Given the description of an element on the screen output the (x, y) to click on. 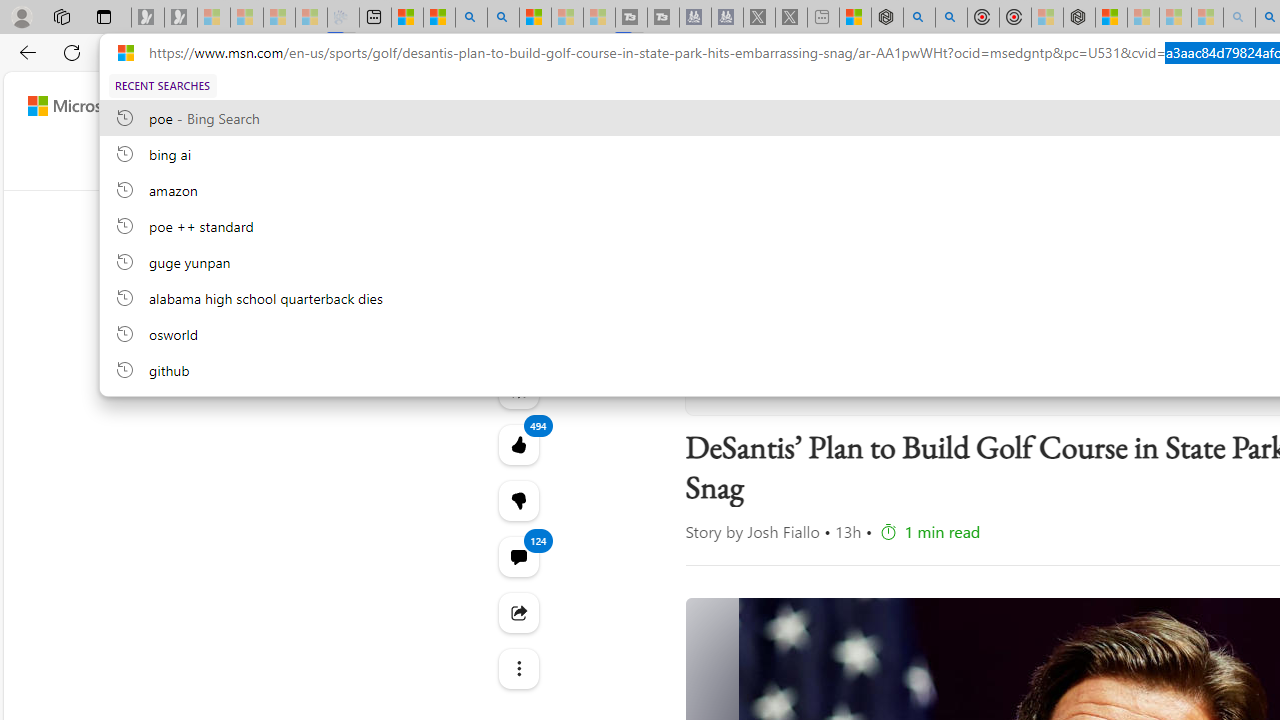
Nordace - Summer Adventures 2024 (886, 17)
Wildlife - MSN (855, 17)
Follow (906, 378)
Sports (734, 162)
MLB (977, 162)
Nordace - Nordace Siena Is Not An Ordinary Backpack (1078, 17)
poe ++ standard - Search (950, 17)
